Given the description of an element on the screen output the (x, y) to click on. 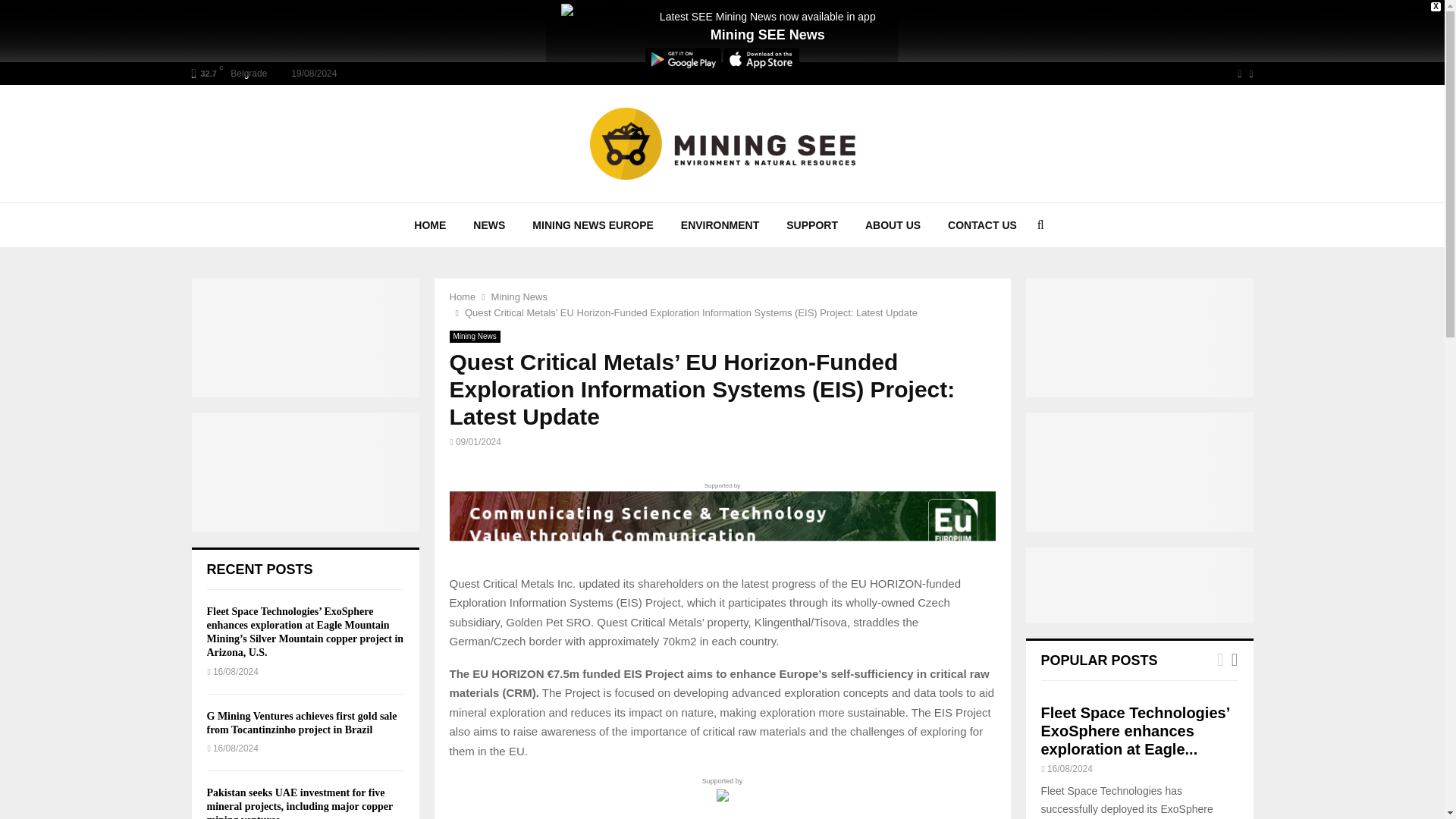
NEWS (489, 225)
HOME (430, 225)
ENVIRONMENT (719, 225)
Mining News (473, 336)
MINING NEWS EUROPE (592, 225)
CONTACT US (982, 225)
Supported by (721, 519)
ABOUT US (892, 225)
Home (462, 296)
